Given the description of an element on the screen output the (x, y) to click on. 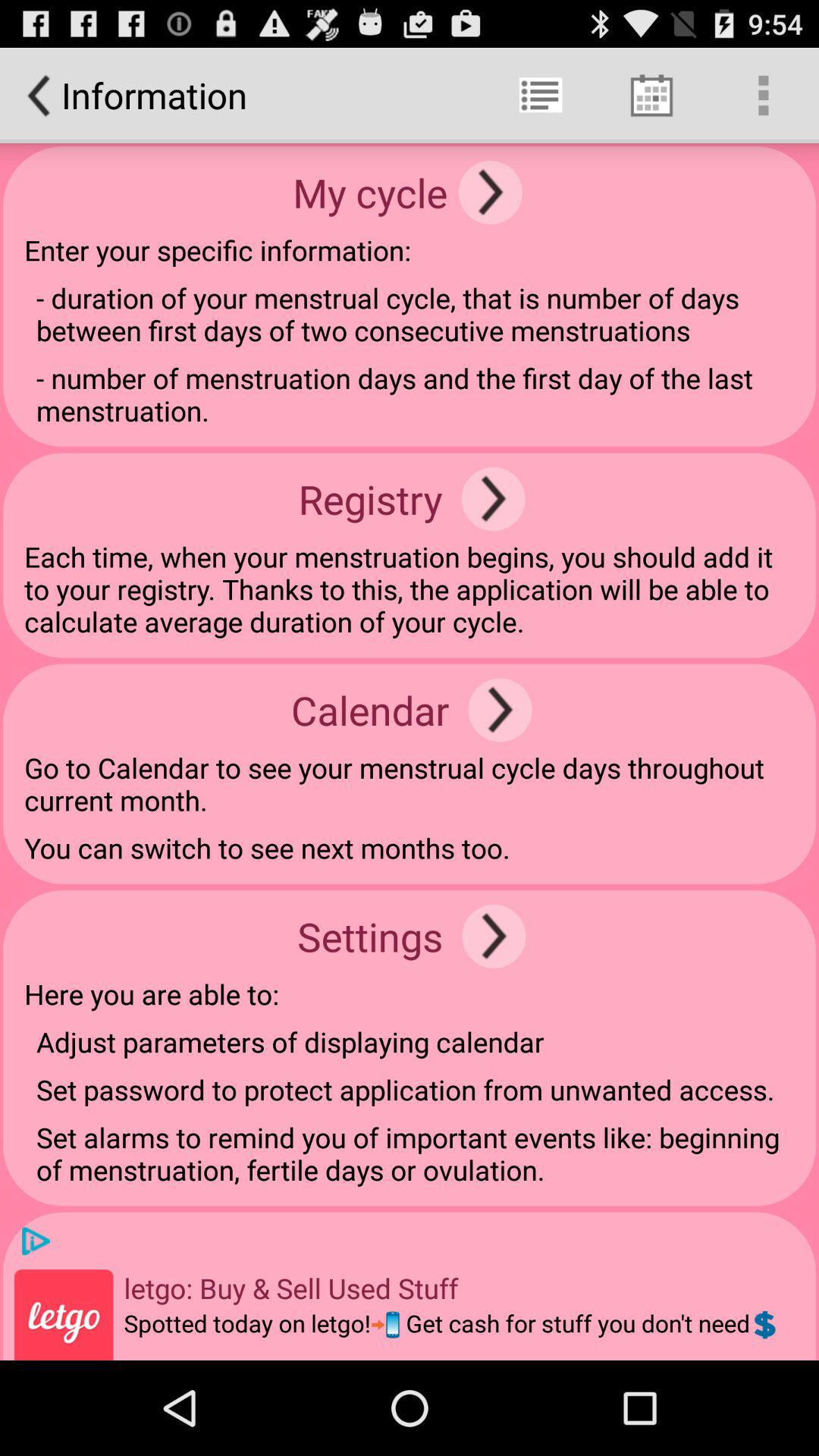
launch letgo buy sell app (290, 1287)
